Given the description of an element on the screen output the (x, y) to click on. 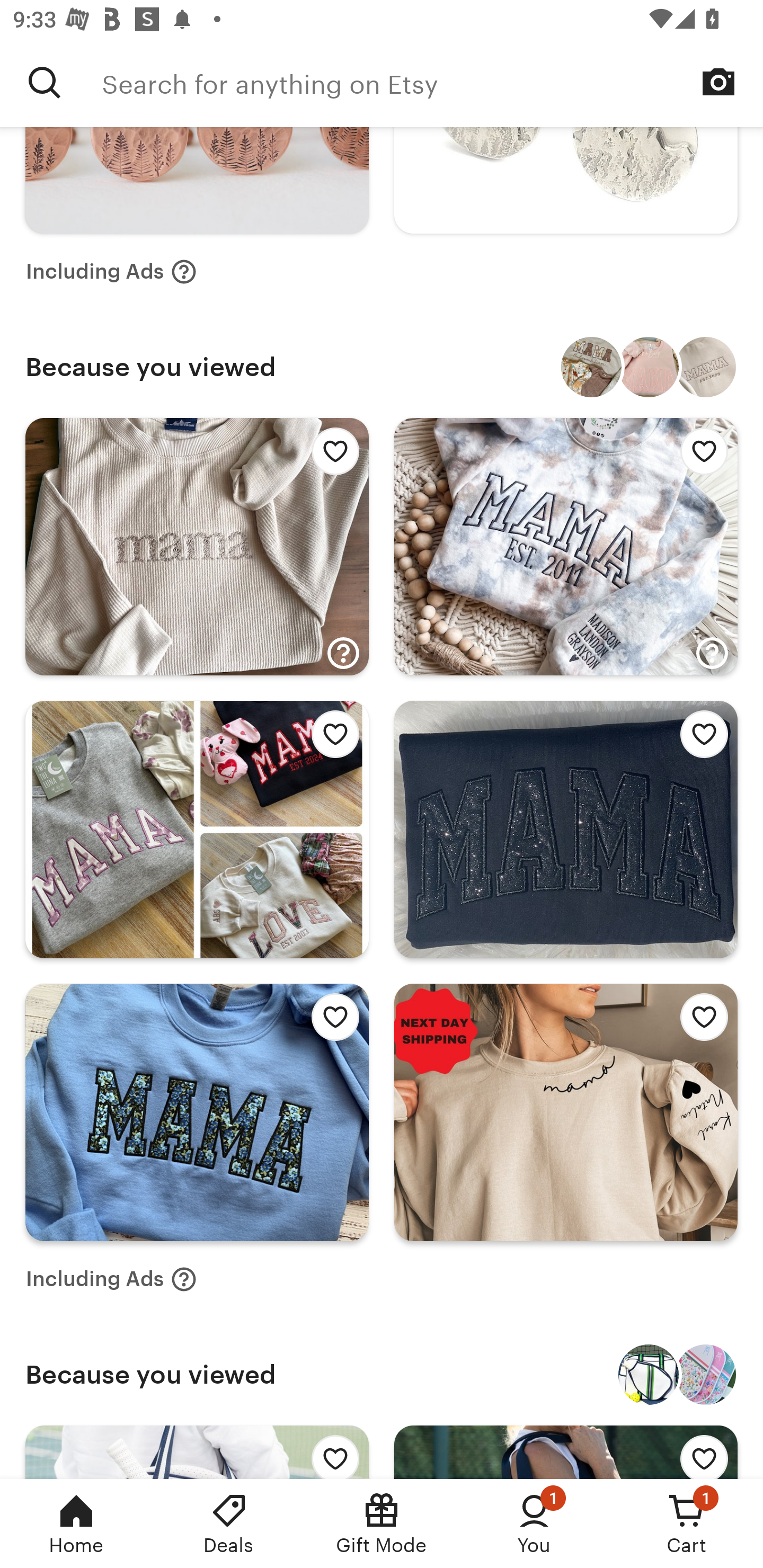
Search for anything on Etsy (44, 82)
Search by image (718, 81)
Search for anything on Etsy (432, 82)
Including Ads (111, 271)
Including Ads (111, 1279)
Flower Preppy Pickleball Paddle (705, 1373)
Deals (228, 1523)
Gift Mode (381, 1523)
You, 1 new notification You (533, 1523)
Cart, 1 new notification Cart (686, 1523)
